Given the description of an element on the screen output the (x, y) to click on. 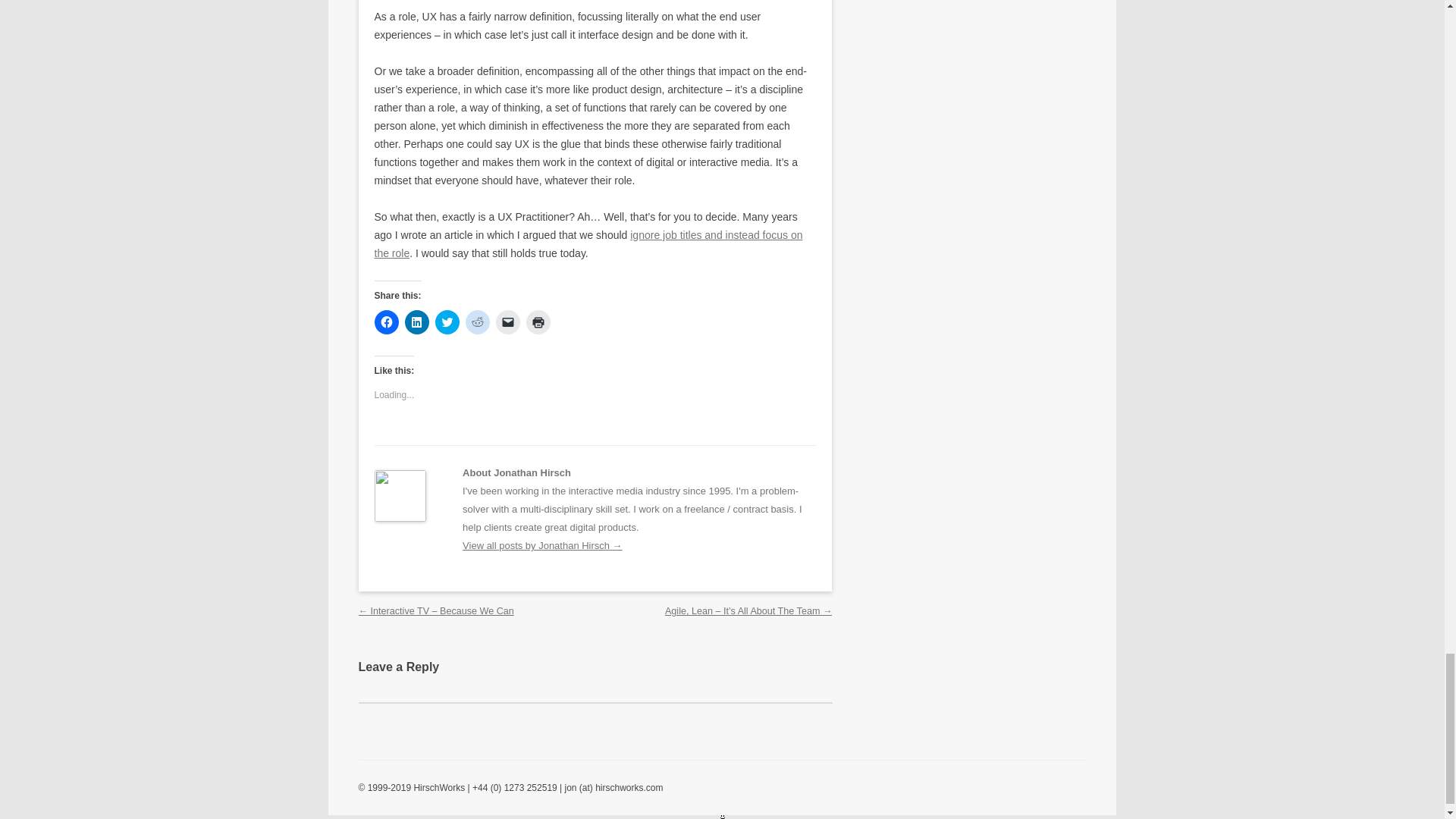
ignore job titles and instead focus on the role (588, 244)
Click to share on Twitter (447, 322)
Click to print (537, 322)
Job Titles Are Meaningless in New Media (588, 244)
Click to share on Facebook (386, 322)
Click to share on Reddit (477, 322)
Click to share on LinkedIn (416, 322)
Click to email a link to a friend (507, 322)
